Given the description of an element on the screen output the (x, y) to click on. 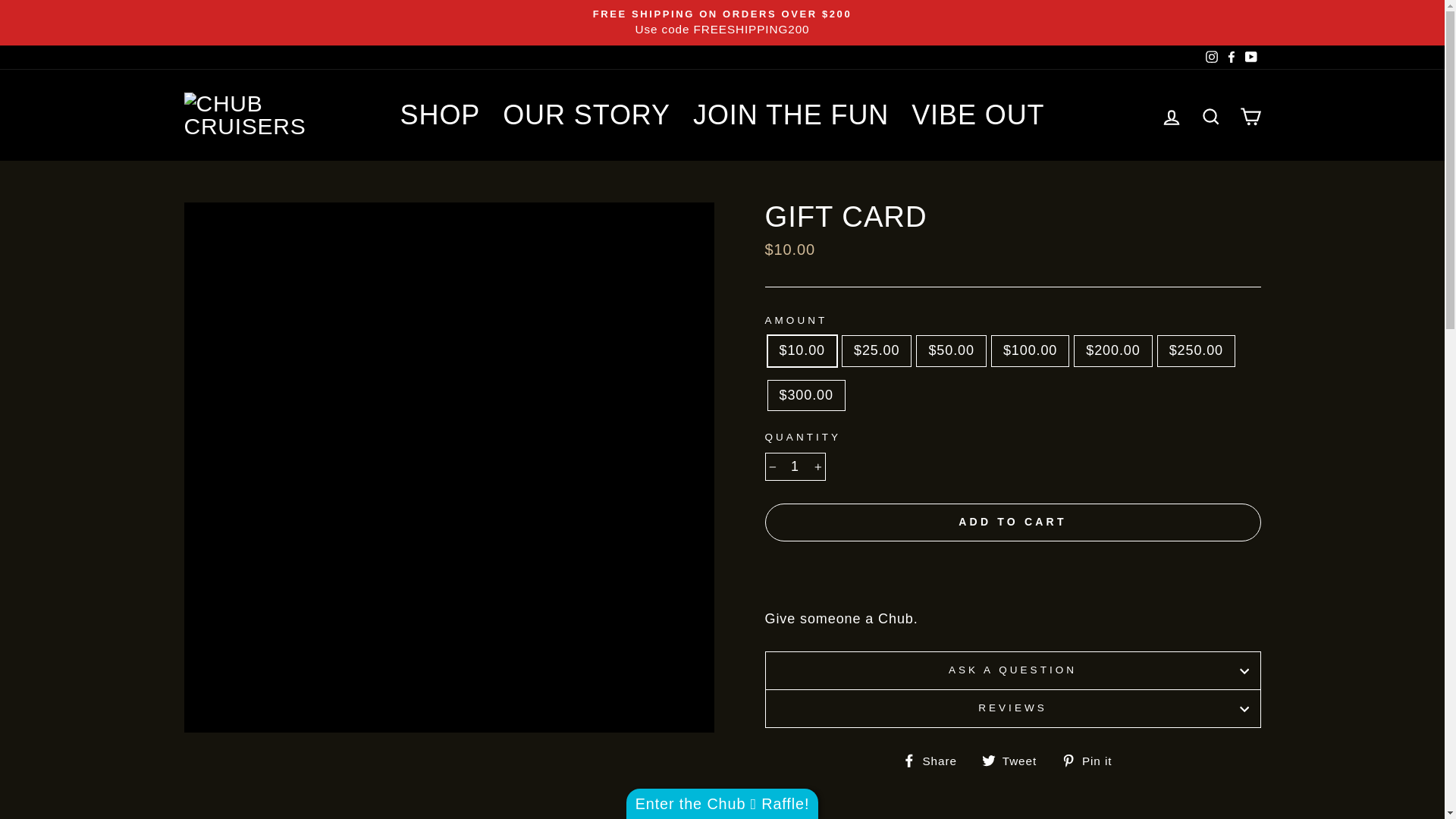
Pin on Pinterest (1091, 760)
VIBE OUT (977, 114)
JOIN THE FUN (790, 114)
1 (794, 466)
Tweet on Twitter (1014, 760)
Share on Facebook (935, 760)
OUR STORY (586, 114)
SHOP (440, 114)
